Given the description of an element on the screen output the (x, y) to click on. 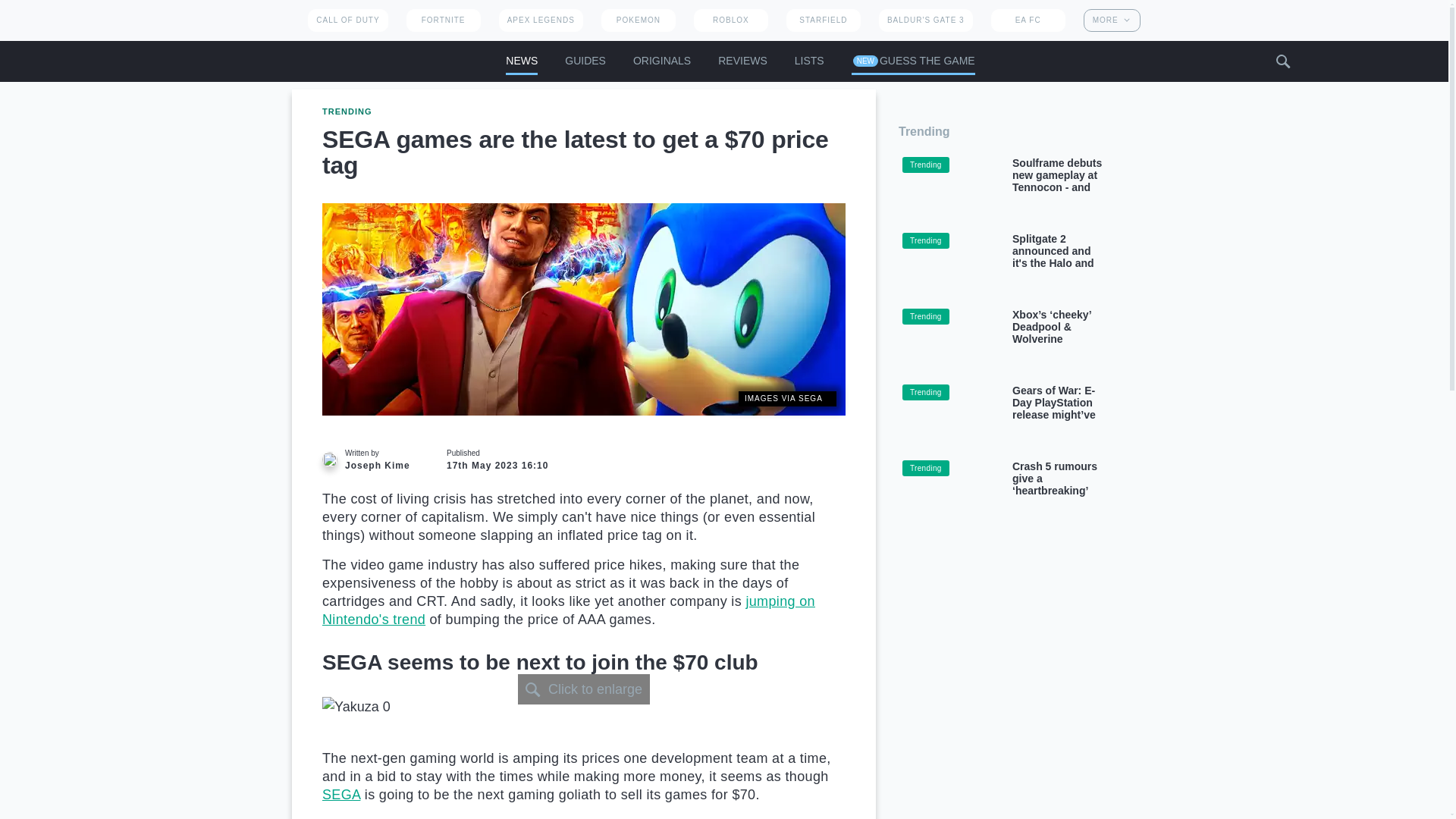
CALL OF DUTY (347, 20)
ROBLOX (731, 20)
FORTNITE (443, 20)
POKEMON (638, 20)
MORE (1111, 20)
STARFIELD (823, 20)
SEGA Teases Sonic Frontiers Sequel Plans (340, 794)
BALDUR'S GATE 3 (925, 20)
Joseph Kime (329, 459)
EA FC (1028, 20)
APEX LEGENDS (541, 20)
authorlink (369, 459)
